Given the description of an element on the screen output the (x, y) to click on. 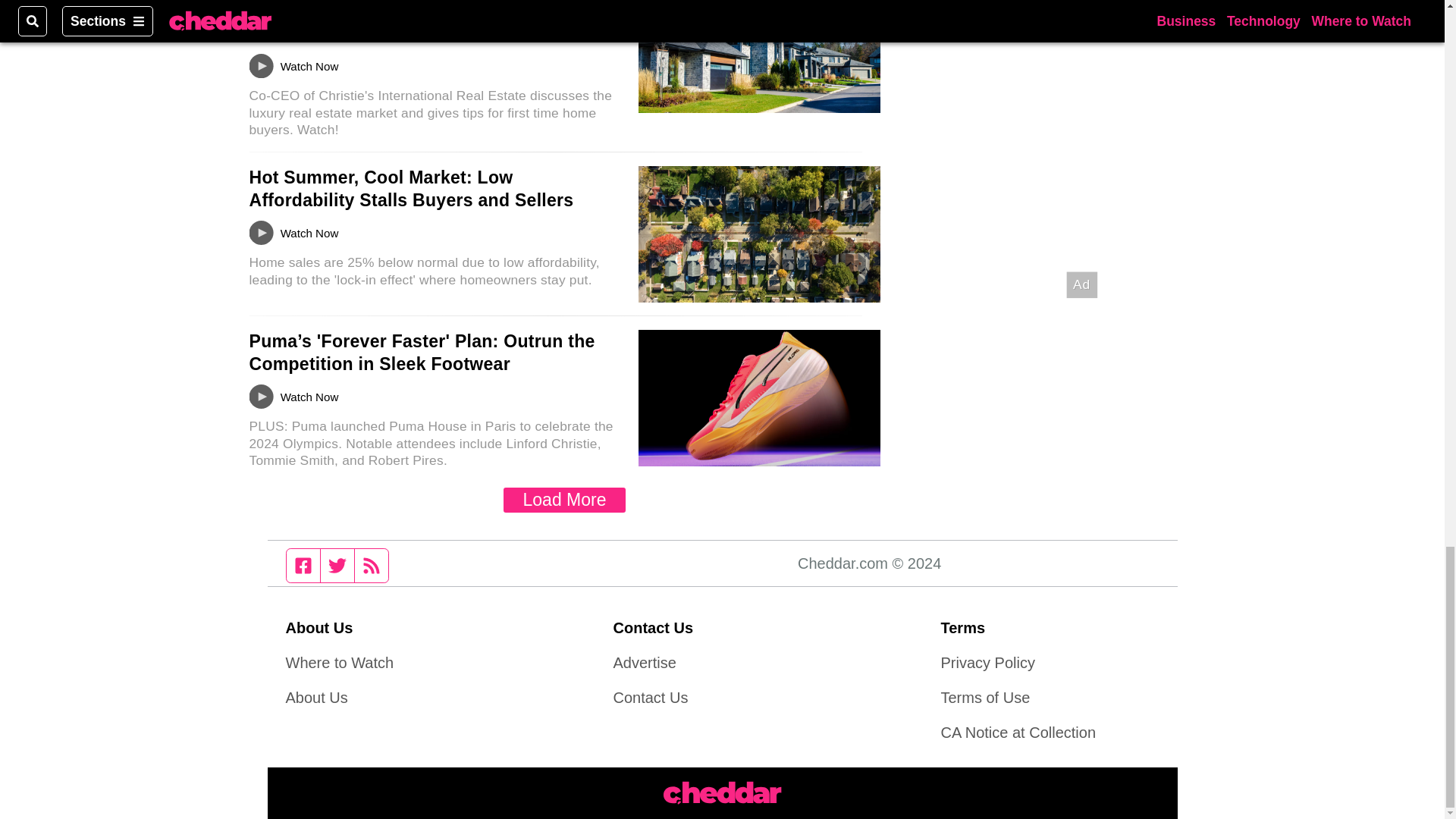
RSS feed (371, 565)
Facebook page (303, 565)
Load More (564, 499)
Twitter feed (336, 565)
